Given the description of an element on the screen output the (x, y) to click on. 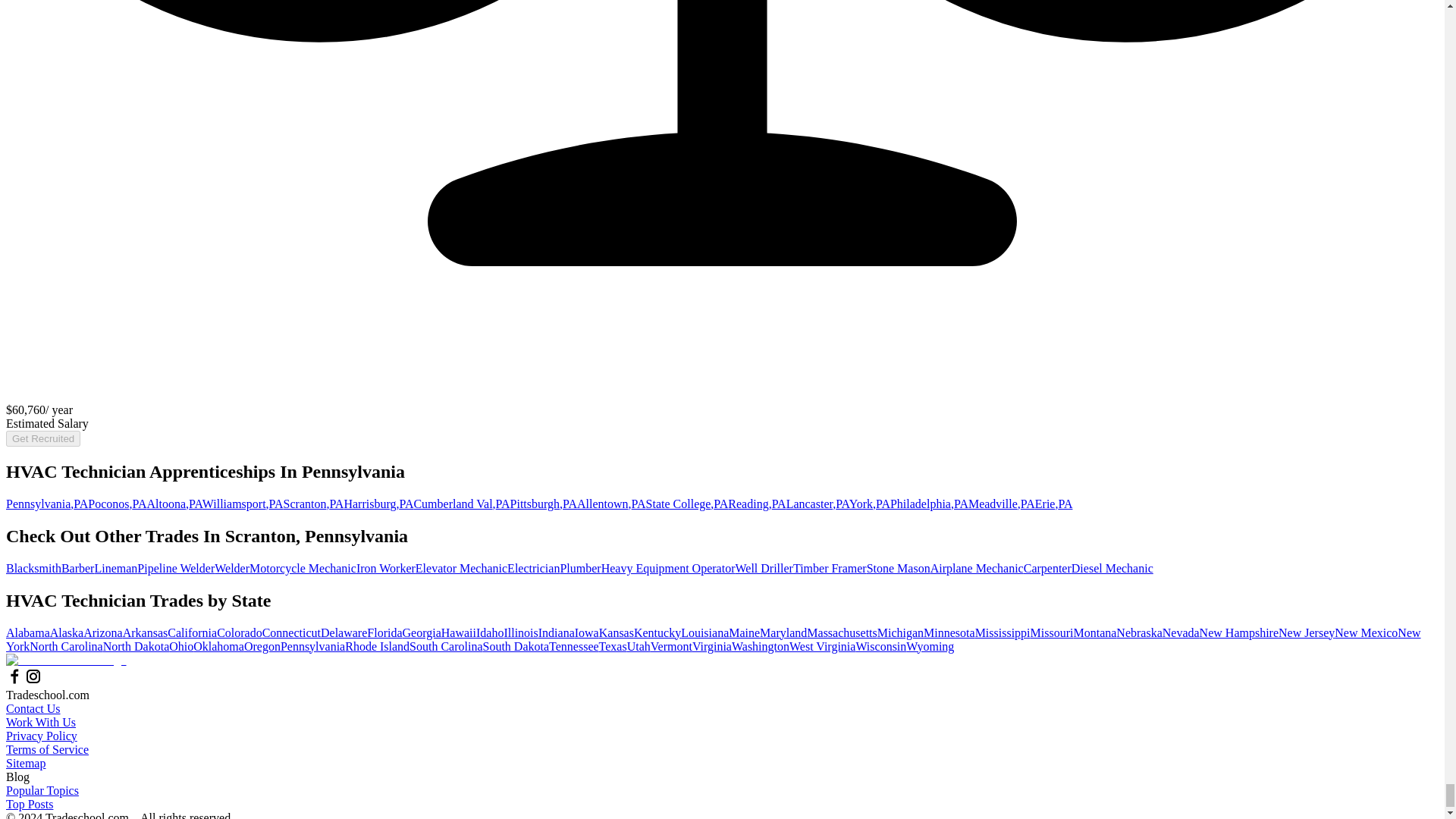
Altoona,PA (174, 503)
Philadelphia,PA (928, 503)
Pipeline Welder (175, 567)
Scranton,PA (313, 503)
Harrisburg,PA (378, 503)
Blacksmith (33, 567)
Erie,PA (1054, 503)
Electrician (532, 567)
Heavy Equipment Operator (668, 567)
Pennsylvania,PA (46, 503)
Well Driller (763, 567)
Lancaster,PA (817, 503)
Get Recruited (42, 438)
Iron Worker (385, 567)
Reading,PA (757, 503)
